Given the description of an element on the screen output the (x, y) to click on. 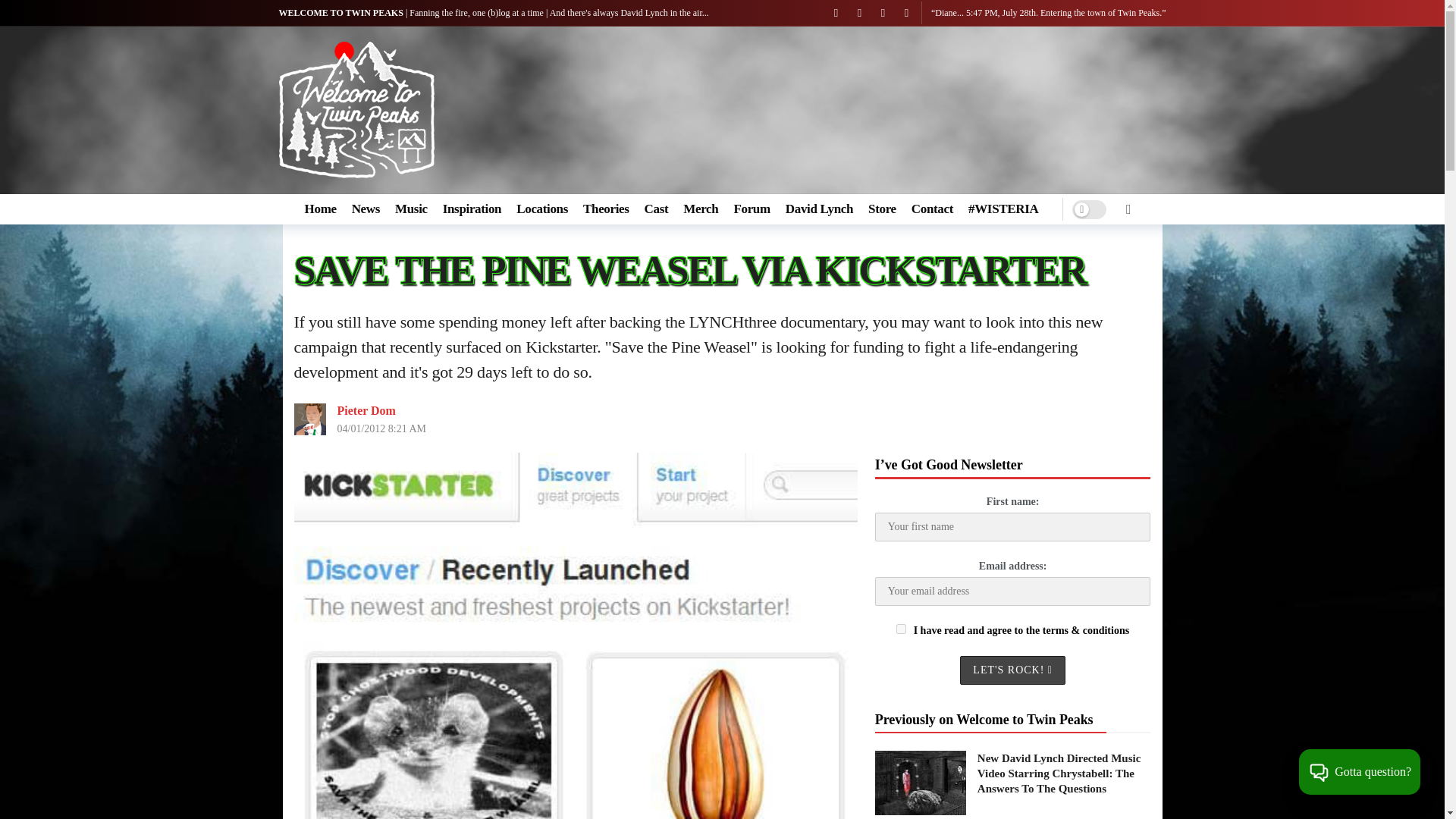
News (366, 209)
Twin Peaks (320, 209)
Pieter Dom (365, 410)
Filming locations (541, 209)
Inspired by David Lynch and Twin Peaks (472, 209)
David Lynch (819, 209)
Store (881, 209)
Theories (605, 209)
Unrecorded Night by David Lynch for Netflix (1003, 209)
David Lynch and Twin Peaks news  (366, 209)
Merch (699, 209)
Contact (932, 209)
Contact Welcome to Twin Peaks (932, 209)
Twin Peaks merchandise (699, 209)
1 (900, 628)
